Given the description of an element on the screen output the (x, y) to click on. 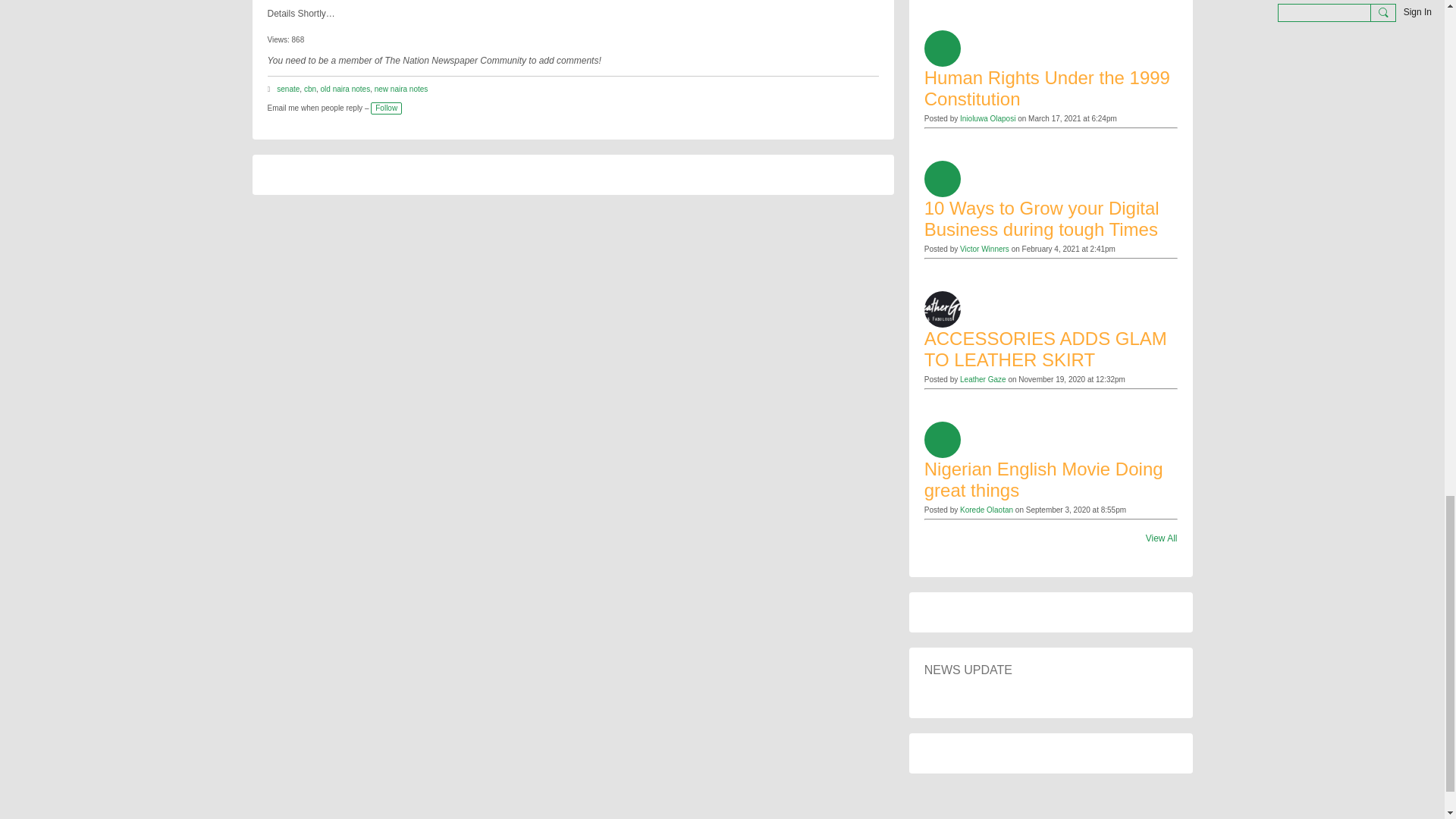
cbn (309, 89)
Tags: (270, 89)
new naira notes (401, 89)
old naira notes (345, 89)
senate (287, 89)
Follow (386, 108)
